Given the description of an element on the screen output the (x, y) to click on. 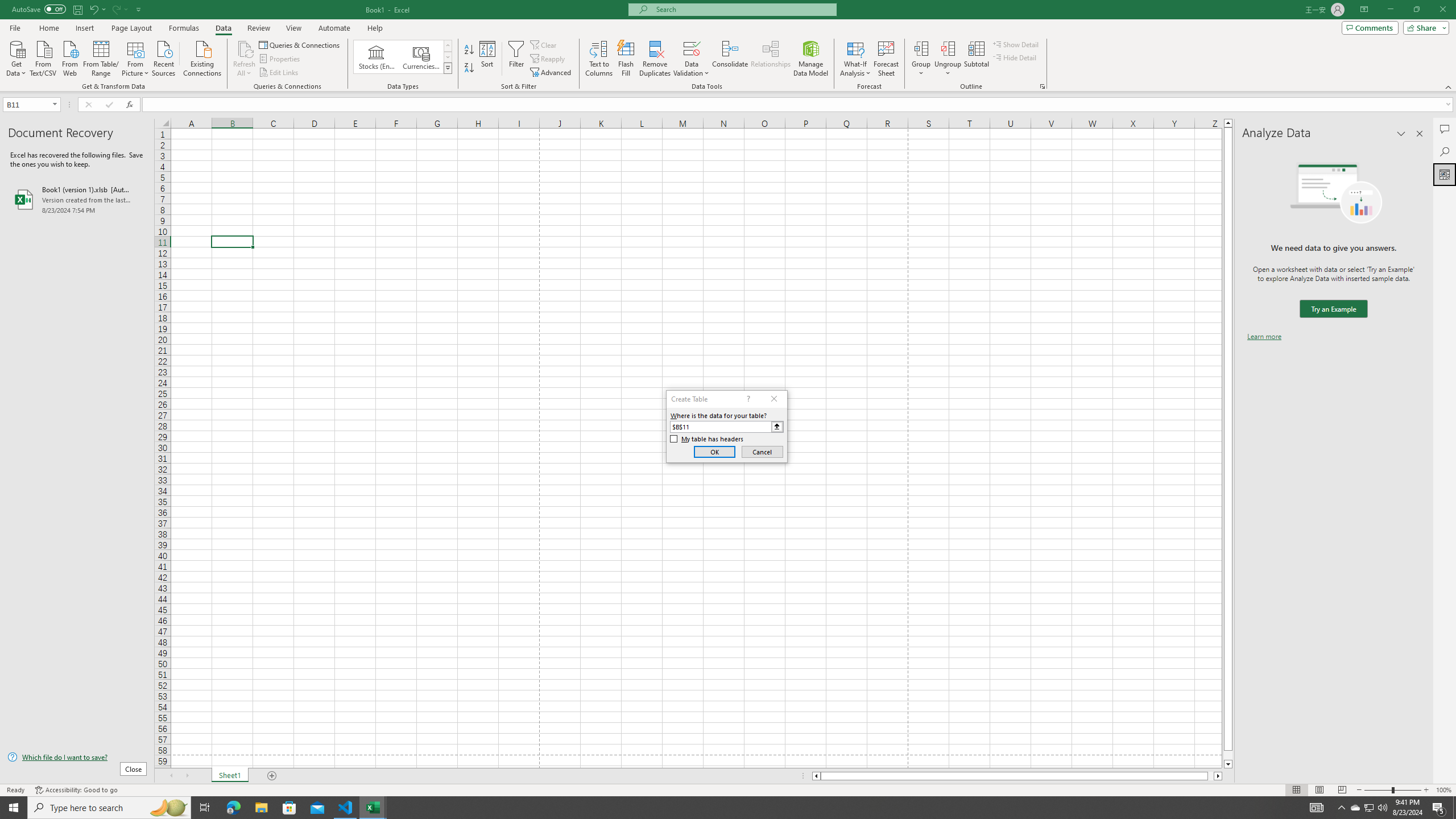
AutoSave (38, 9)
AutomationID: ConvertToLinkedEntity (403, 56)
Which file do I want to save? (77, 757)
Sort... (487, 58)
Formula Bar (799, 104)
Hide Detail (1014, 56)
